Given the description of an element on the screen output the (x, y) to click on. 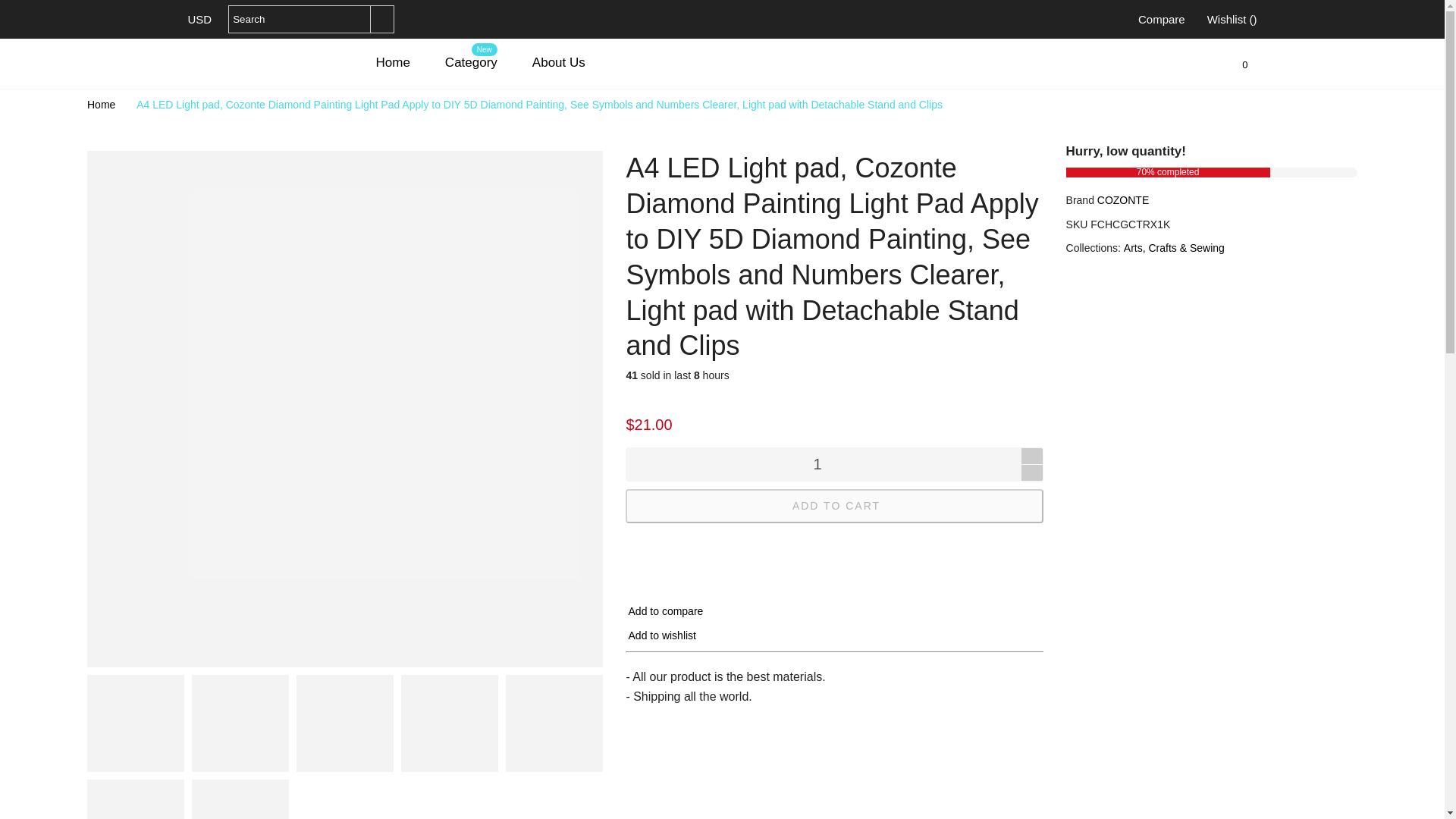
0 (1243, 63)
Cart (1243, 63)
About Us (558, 62)
Currency (200, 19)
Home (392, 62)
Category (471, 62)
Home (102, 104)
